Given the description of an element on the screen output the (x, y) to click on. 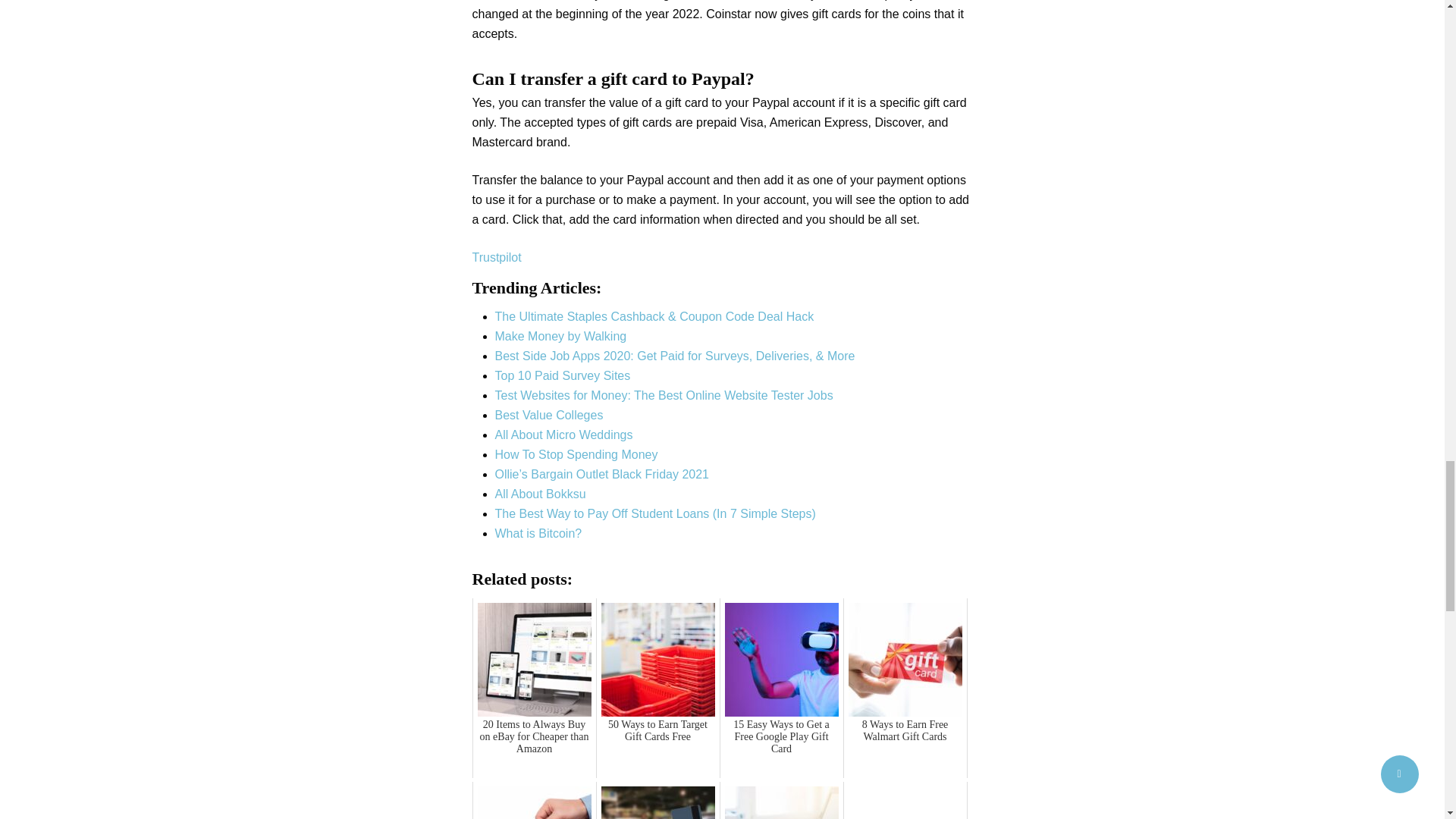
Test Websites for Money: The Best Online Website Tester Jobs (663, 395)
Trustpilot (496, 256)
12 Ways to Get Walmart Gift Cards Free (657, 800)
All About Micro Weddings (563, 434)
How To Stop Spending Money (576, 454)
Top 10 Paid Survey Sites (562, 375)
What is Bitcoin? (537, 533)
10 Ways to Get a Free Target Gift Card (533, 800)
All About Bokksu (540, 493)
Amazon e-Gift Card (905, 800)
